Given the description of an element on the screen output the (x, y) to click on. 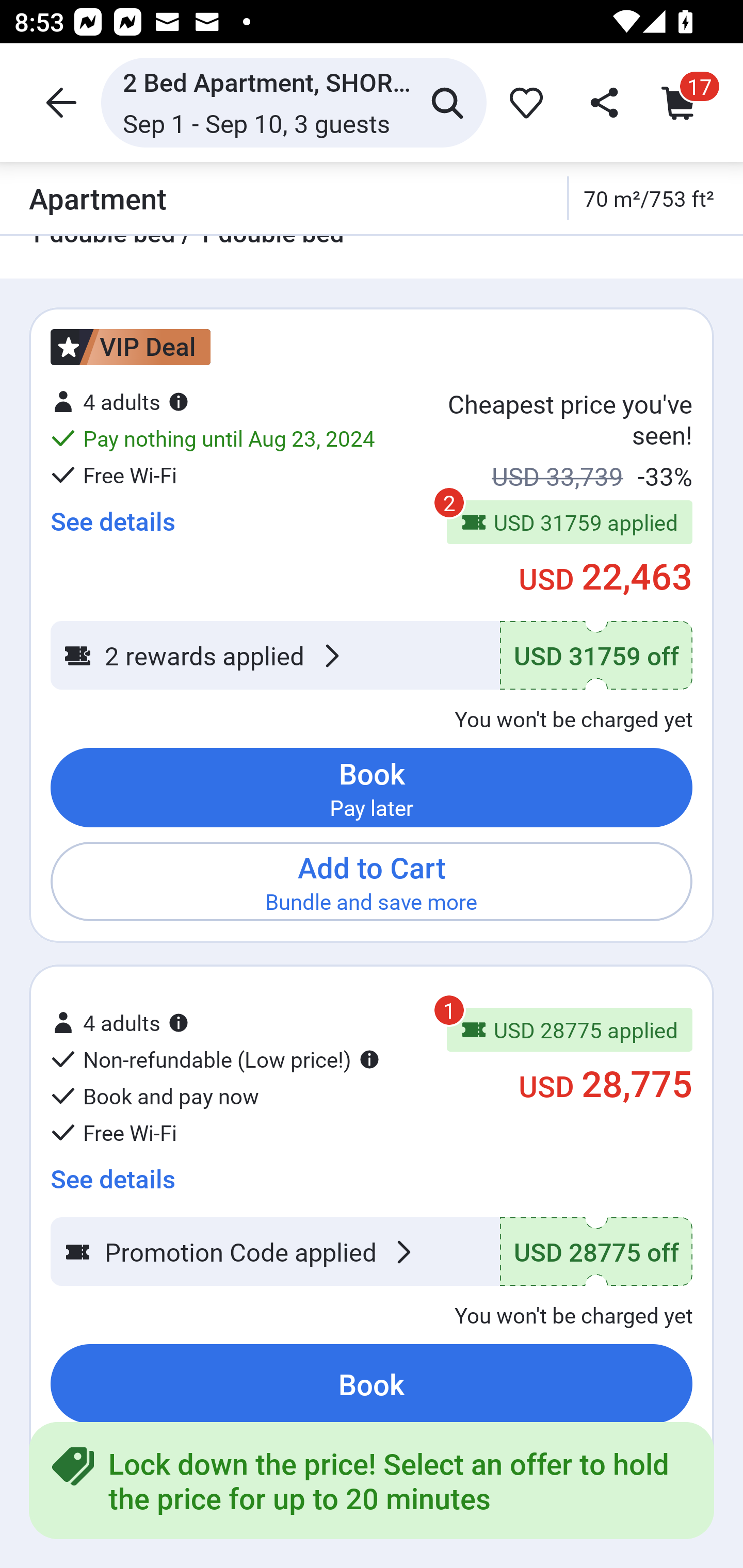
header icon (59, 102)
favorite_icon 0dbe6efb (522, 102)
share_header_icon (601, 102)
Cart icon cart_item_count 17 (683, 102)
See details (112, 521)
2 rewards applied USD 31759 off (371, 655)
Book Pay later (371, 787)
Add to Cart Bundle and save more (371, 881)
Non-refundable (Low price!) (215, 1059)
See details (112, 1171)
Promotion Code applied USD 28775 off (371, 1251)
